Given the description of an element on the screen output the (x, y) to click on. 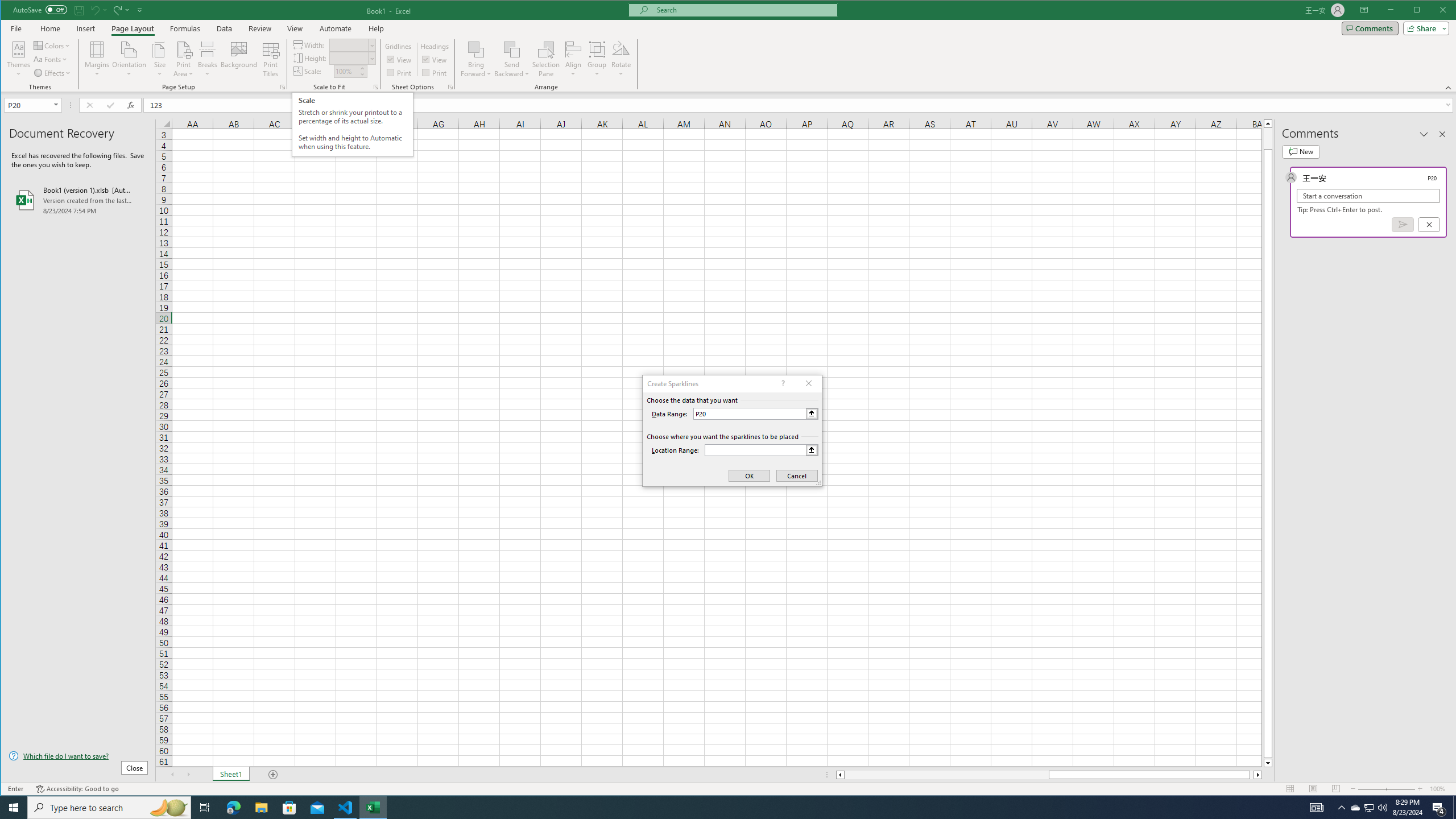
Zoom (1386, 788)
Scroll Left (172, 774)
Task Pane Options (1423, 133)
Line up (1267, 122)
